Given the description of an element on the screen output the (x, y) to click on. 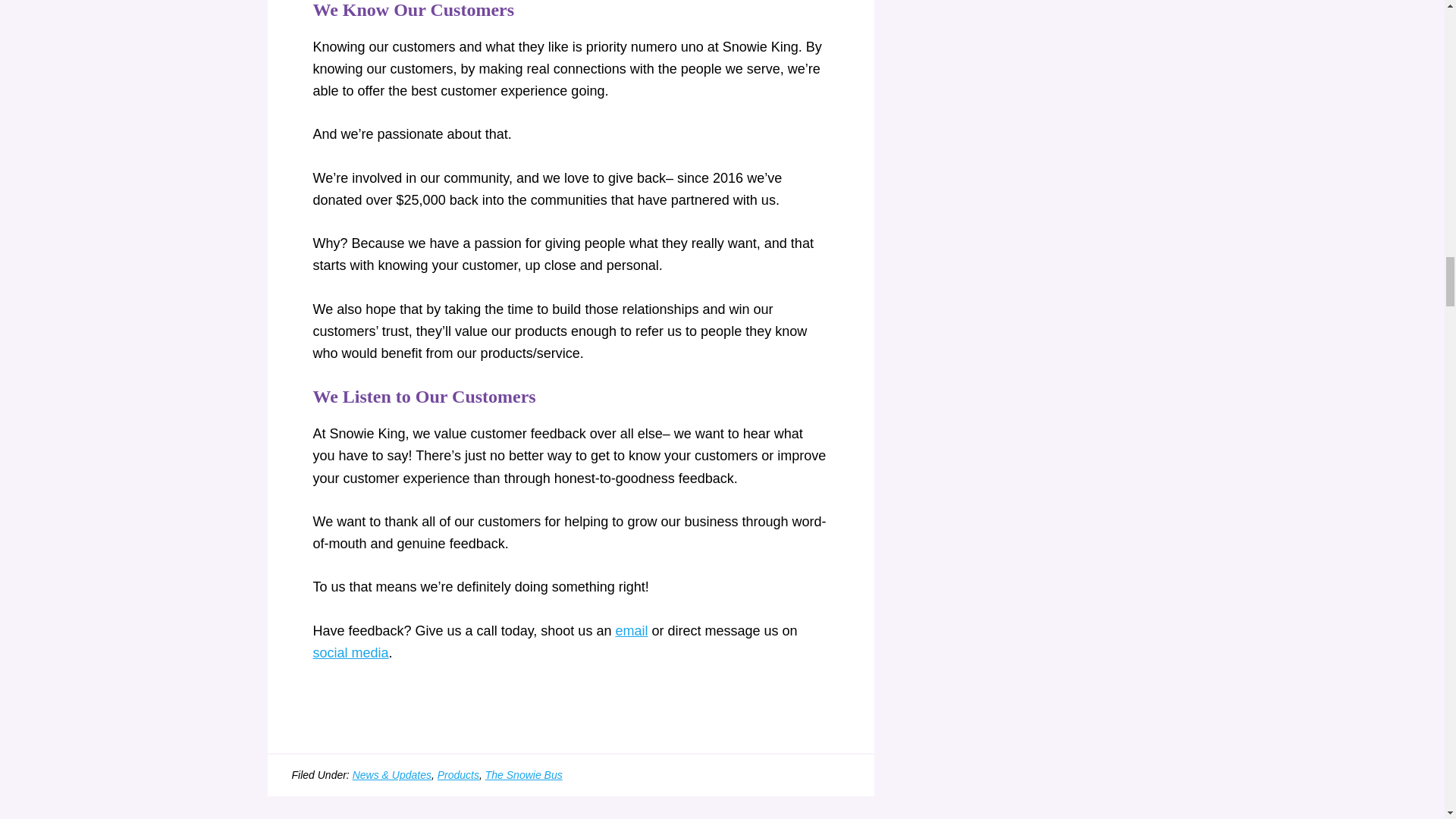
Products (458, 775)
email (630, 630)
The Snowie Bus (523, 775)
social media (350, 652)
